Given the description of an element on the screen output the (x, y) to click on. 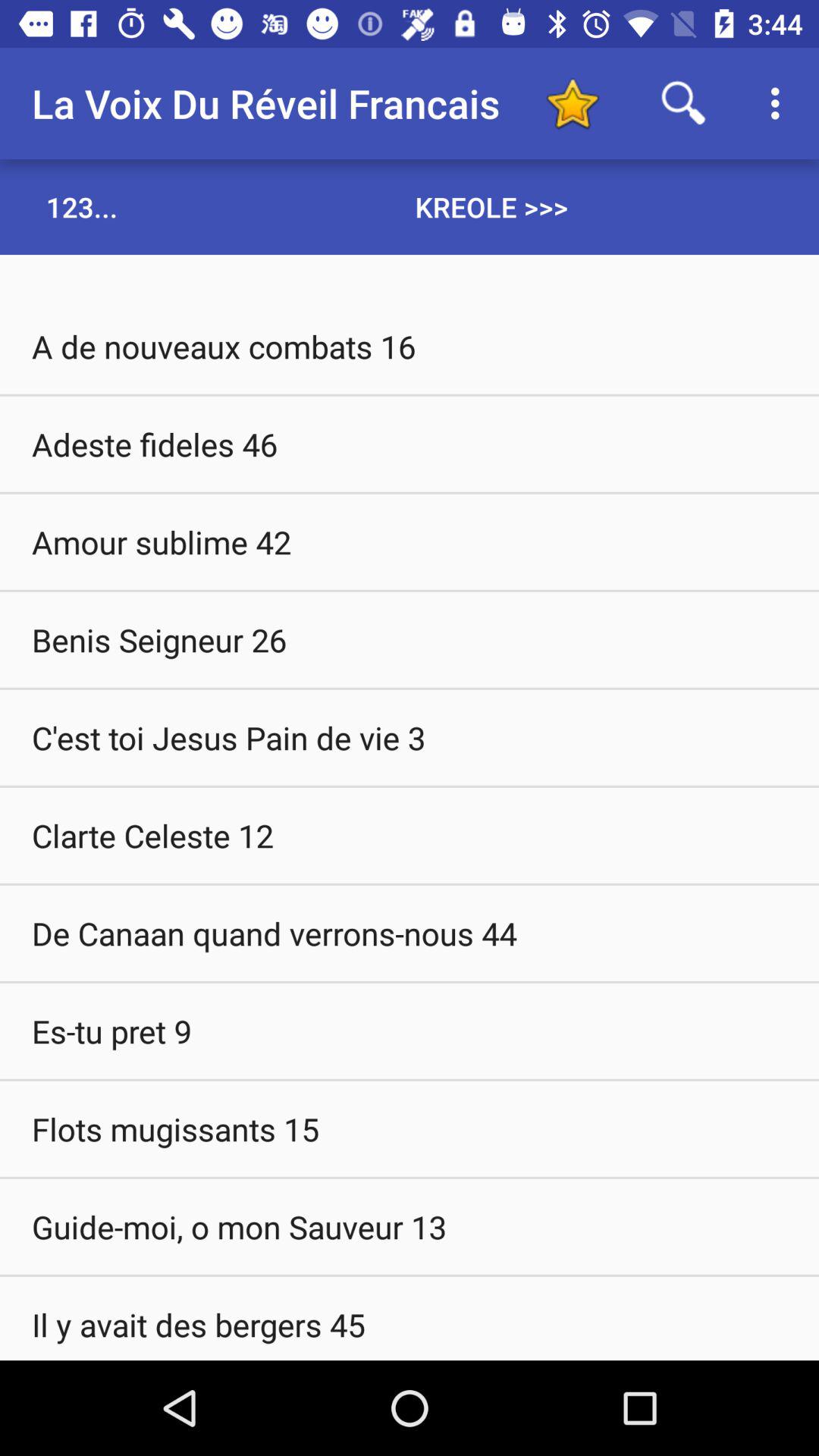
search (683, 103)
